Given the description of an element on the screen output the (x, y) to click on. 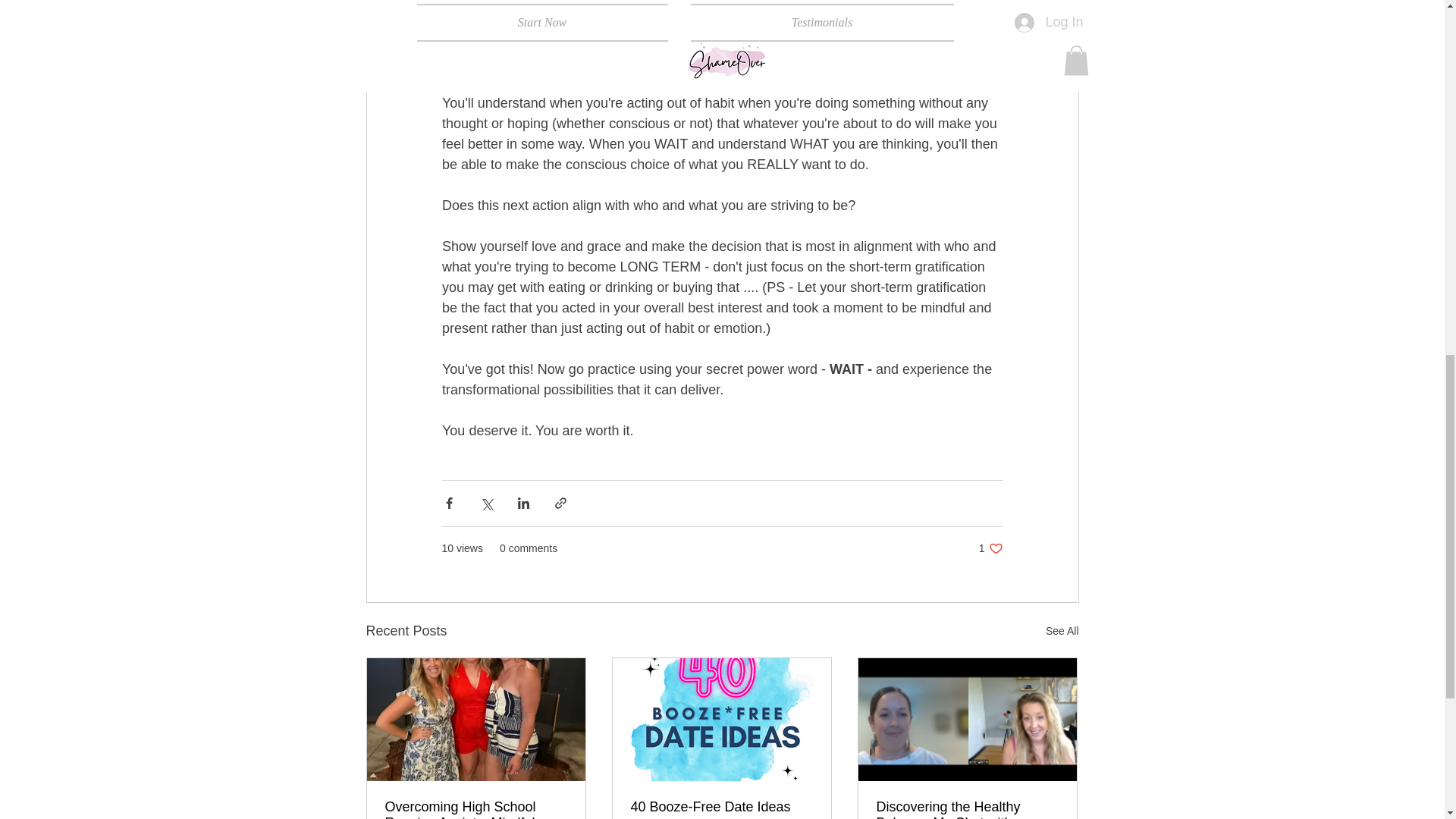
See All (990, 548)
